Given the description of an element on the screen output the (x, y) to click on. 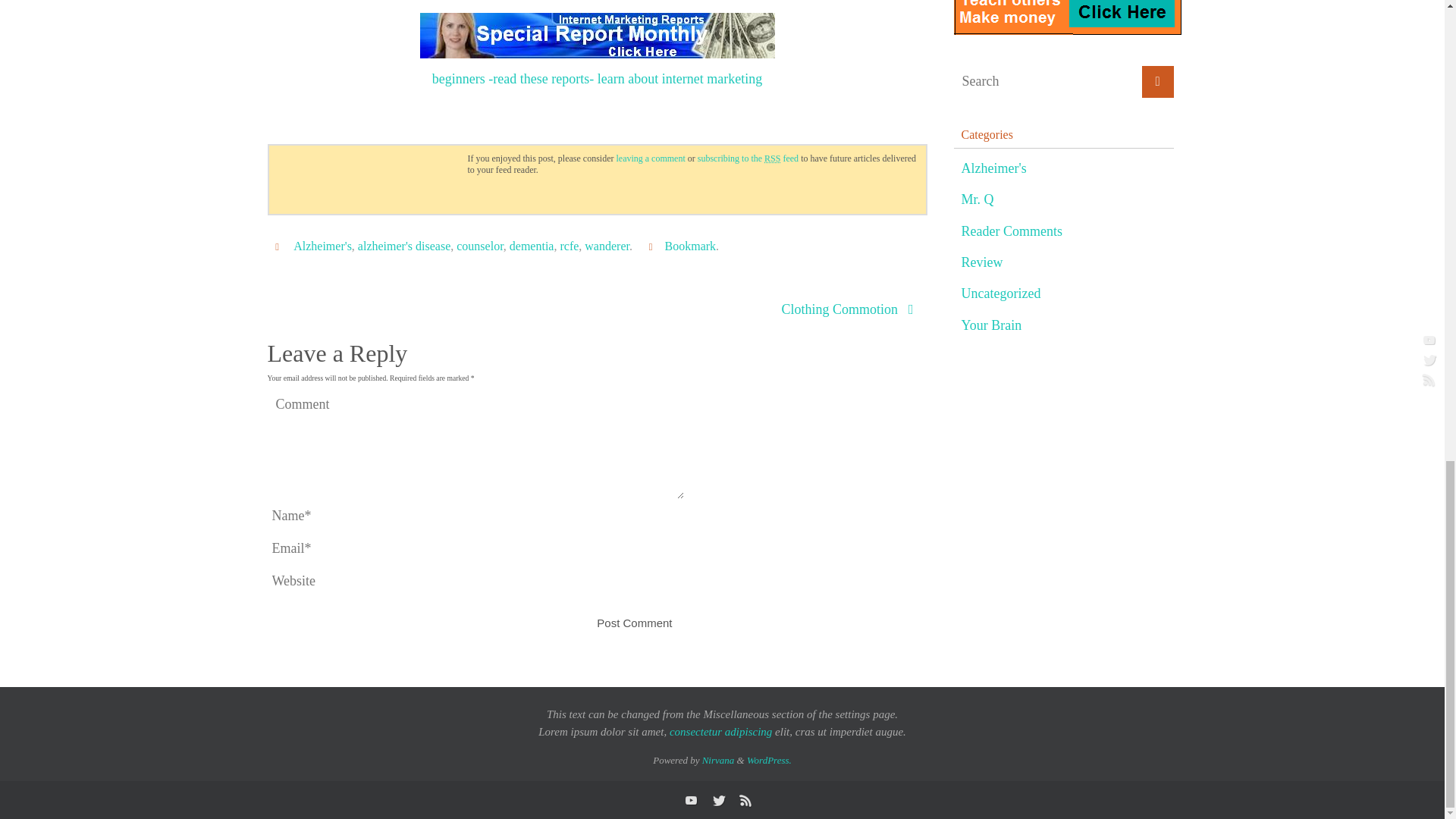
Post Comment (634, 623)
Syndicate this site using RSS (747, 158)
Really Simple Syndication (772, 158)
